Given the description of an element on the screen output the (x, y) to click on. 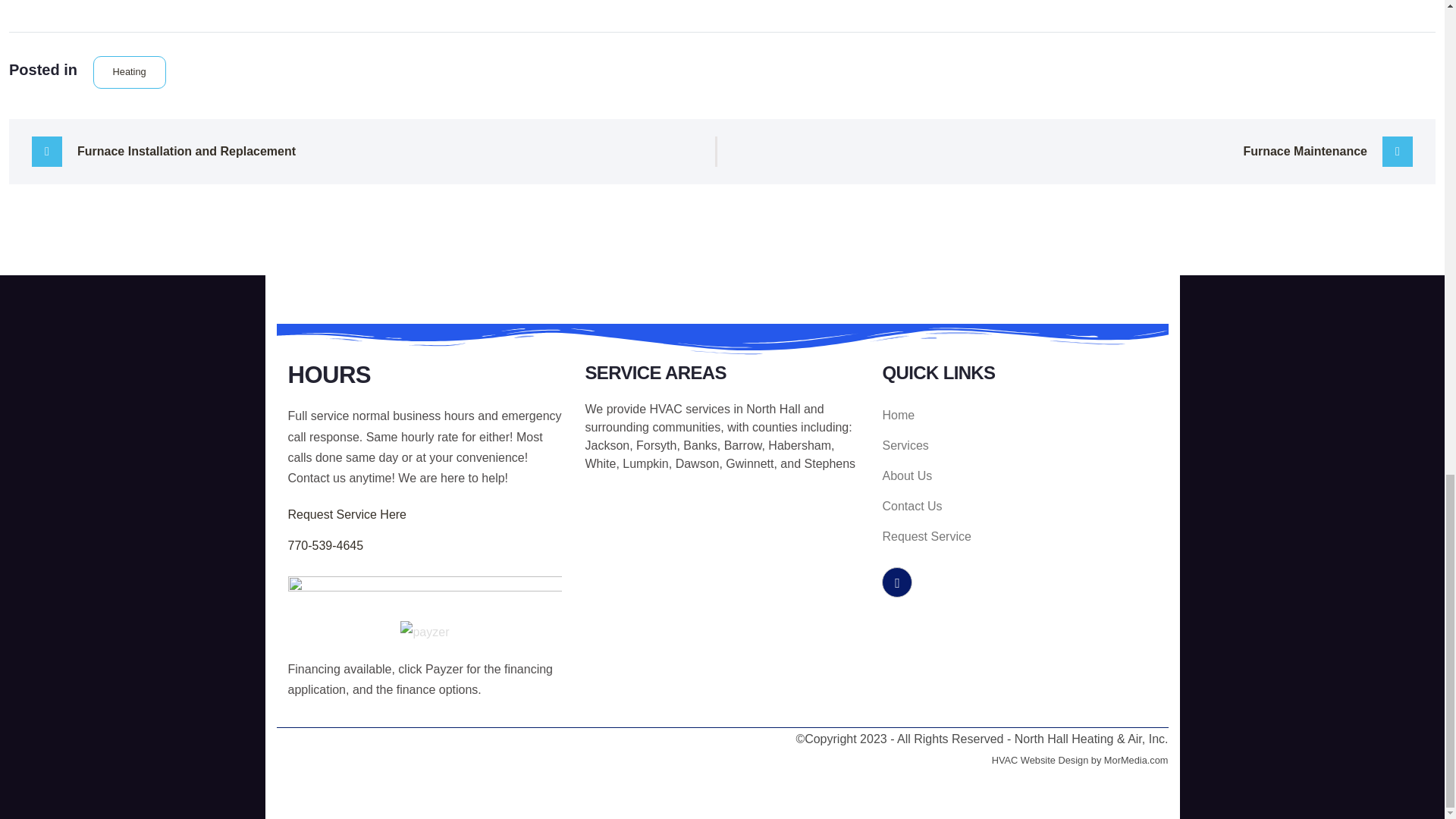
HVAC Website Design by MorMedia.com (1080, 759)
Payzer (444, 668)
About Us (1019, 476)
Home (1019, 415)
Furnace Maintenance (1078, 151)
communities (686, 427)
770-539-4645 (326, 545)
Contact Us (1019, 506)
Heating (129, 71)
Services (1019, 445)
